Given the description of an element on the screen output the (x, y) to click on. 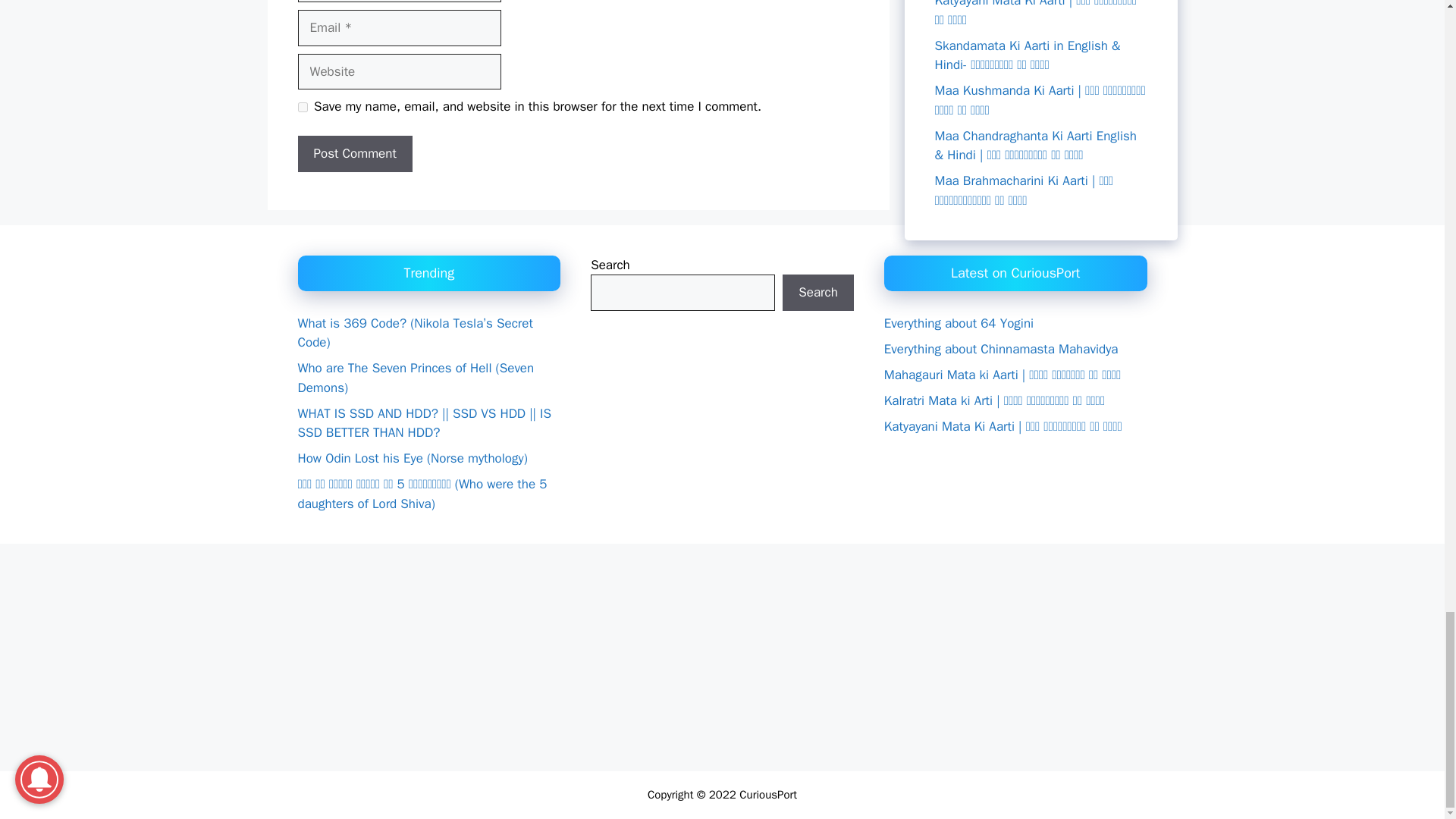
Post Comment (354, 153)
yes (302, 107)
Post Comment (354, 153)
